Given the description of an element on the screen output the (x, y) to click on. 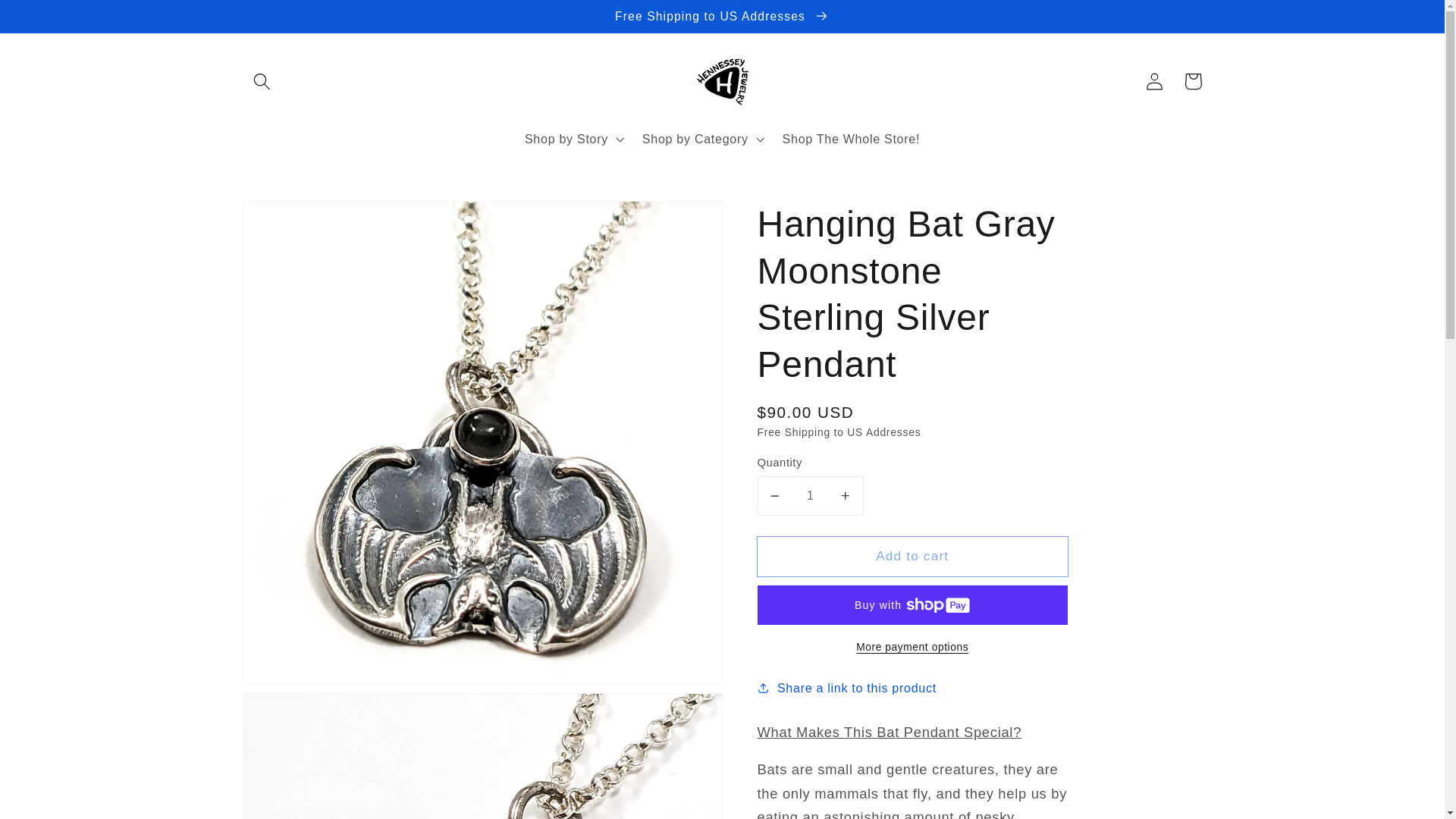
Skip to content (51, 19)
1 (810, 495)
